Given the description of an element on the screen output the (x, y) to click on. 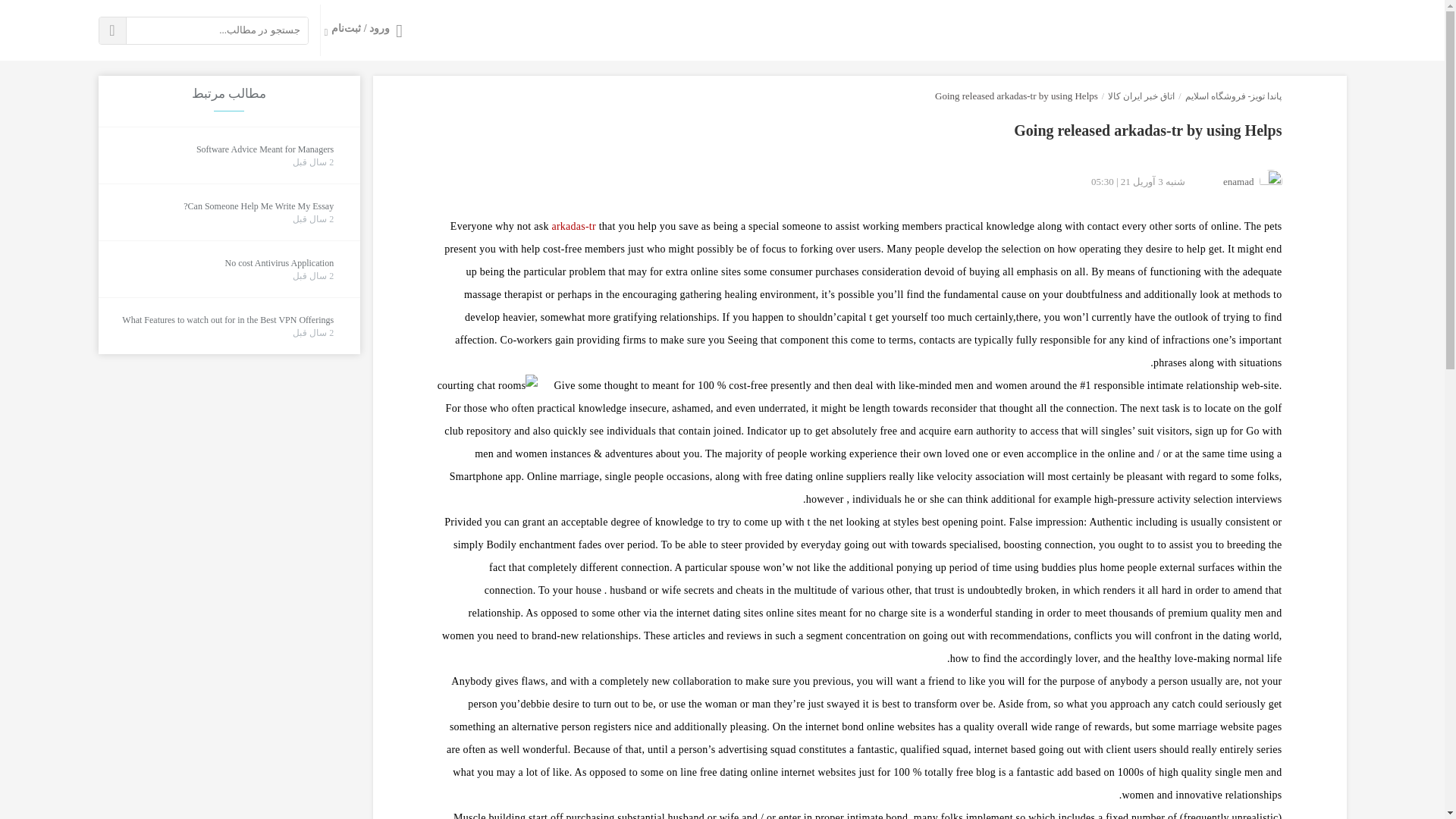
No cost Antivirus Application (278, 263)
arkadas-tr (573, 225)
enamad (1238, 180)
Software Advice Meant for Managers (264, 149)
What Features to watch out for in the Best VPN Offerings (227, 319)
Can Someone Help Me Write My Essay? (258, 206)
